Given the description of an element on the screen output the (x, y) to click on. 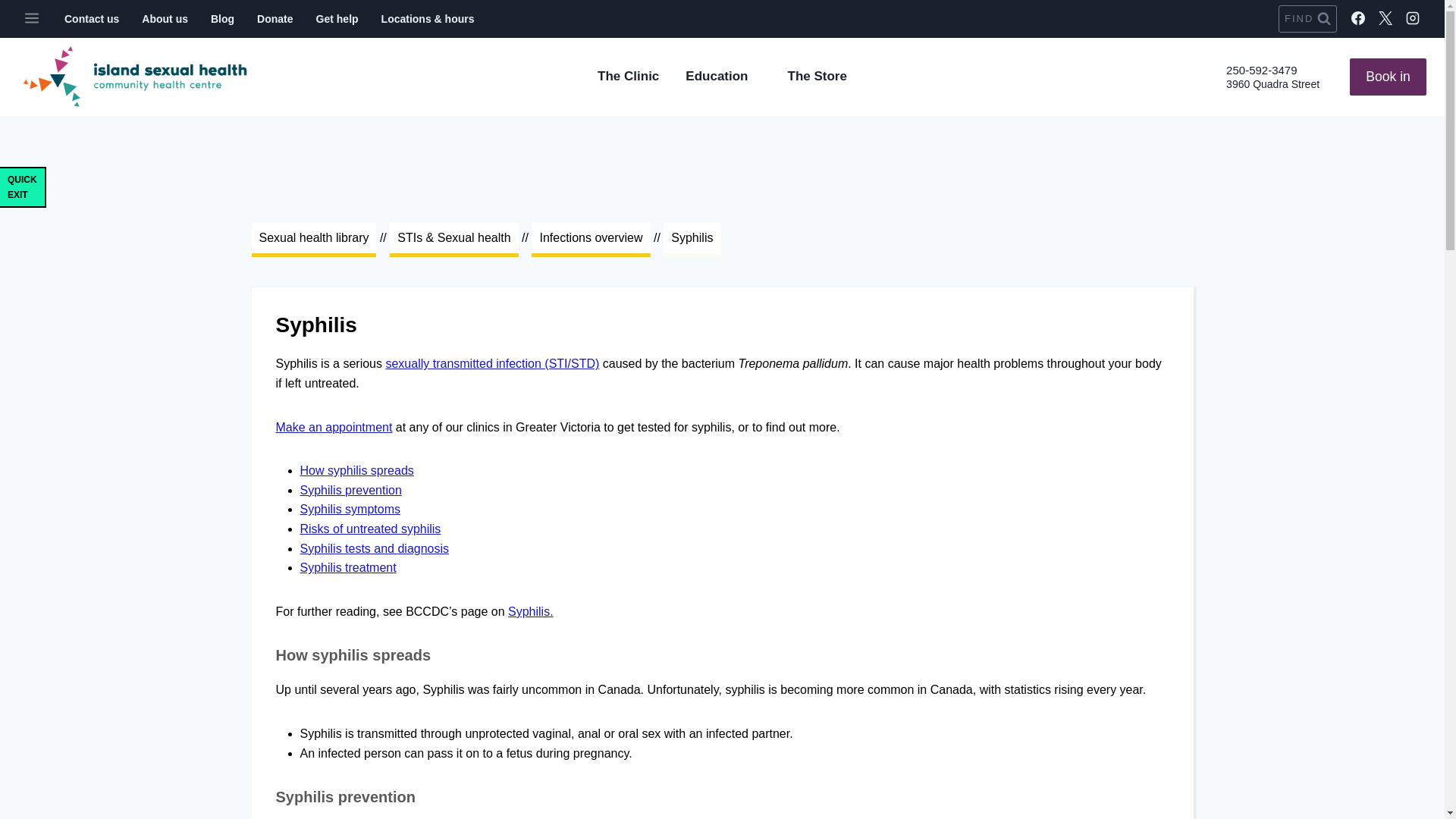
Syphilis treatment (347, 567)
FIND (1307, 18)
About us (165, 18)
Risks of untreated syphilis (370, 528)
Education (723, 76)
Syphilis (691, 239)
Blog (222, 18)
Syphilis. (530, 611)
3960 Quadra Street (1272, 82)
250-592-3479 (1261, 69)
